Given the description of an element on the screen output the (x, y) to click on. 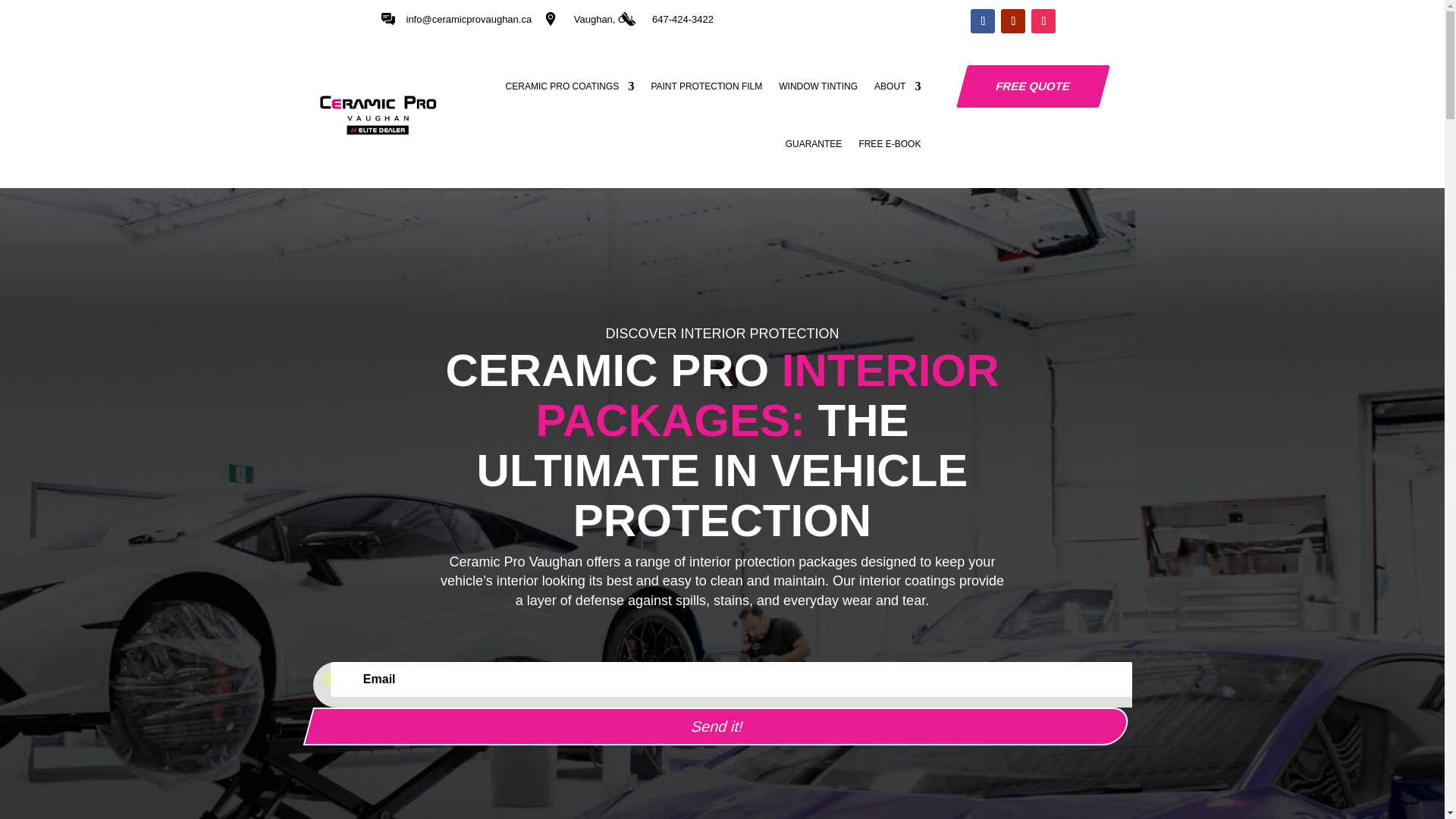
Follow on Facebook (982, 21)
Follow on Youtube (1013, 21)
Follow on Instagram (1042, 21)
FREE QUOTE (1027, 86)
Send it! (711, 726)
CERAMIC PRO COATINGS (569, 86)
WINDOW TINTING (817, 86)
GUARANTEE (814, 143)
FREE E-BOOK (889, 143)
PAINT PROTECTION FILM (705, 86)
